Given the description of an element on the screen output the (x, y) to click on. 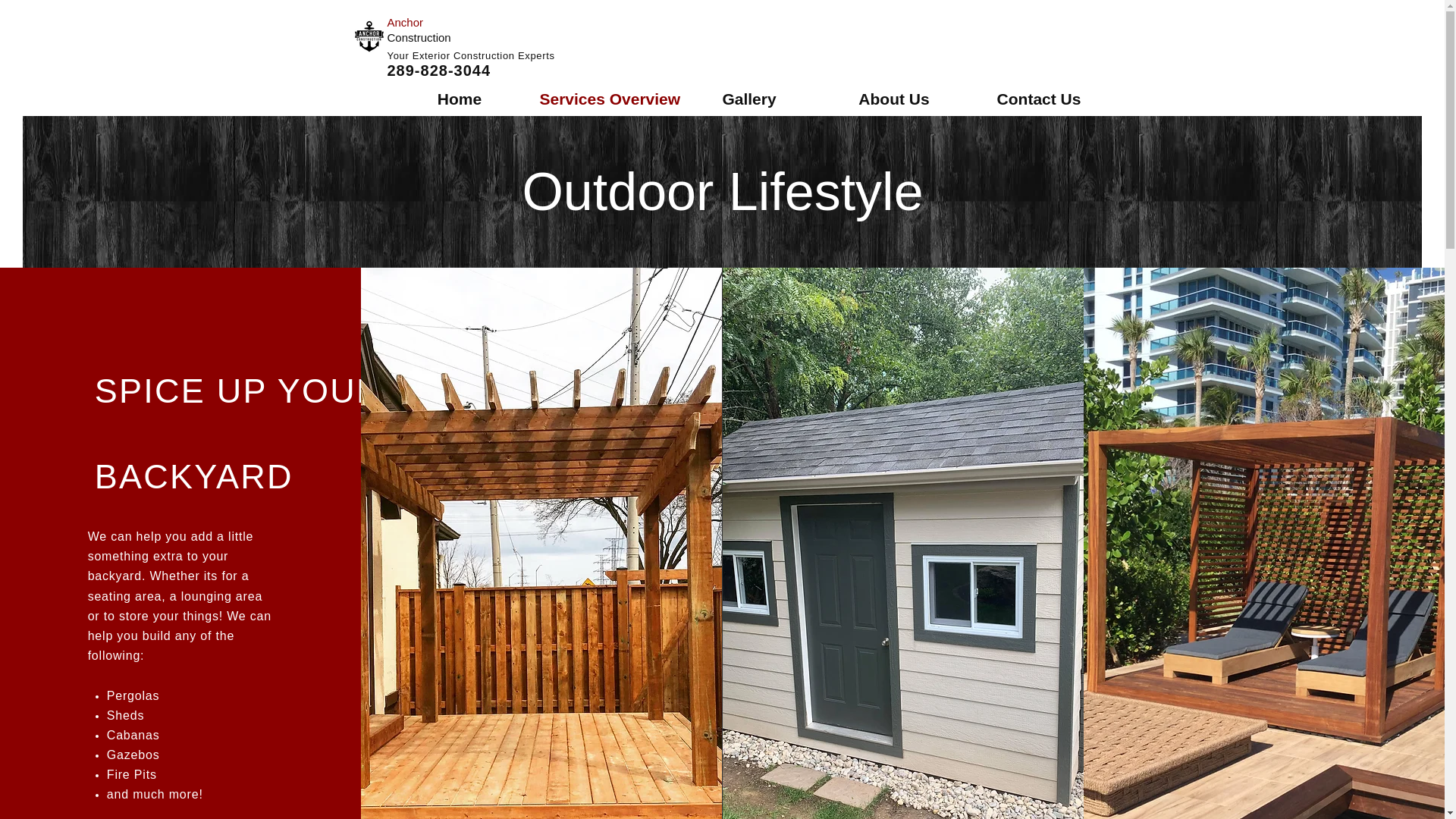
Your Exterior Construction Experts  (472, 55)
Anchor  (406, 21)
Gallery (749, 98)
Home (459, 98)
Services Overview (604, 98)
About Us (894, 98)
Contact Us (1038, 98)
Construction  (419, 36)
